Given the description of an element on the screen output the (x, y) to click on. 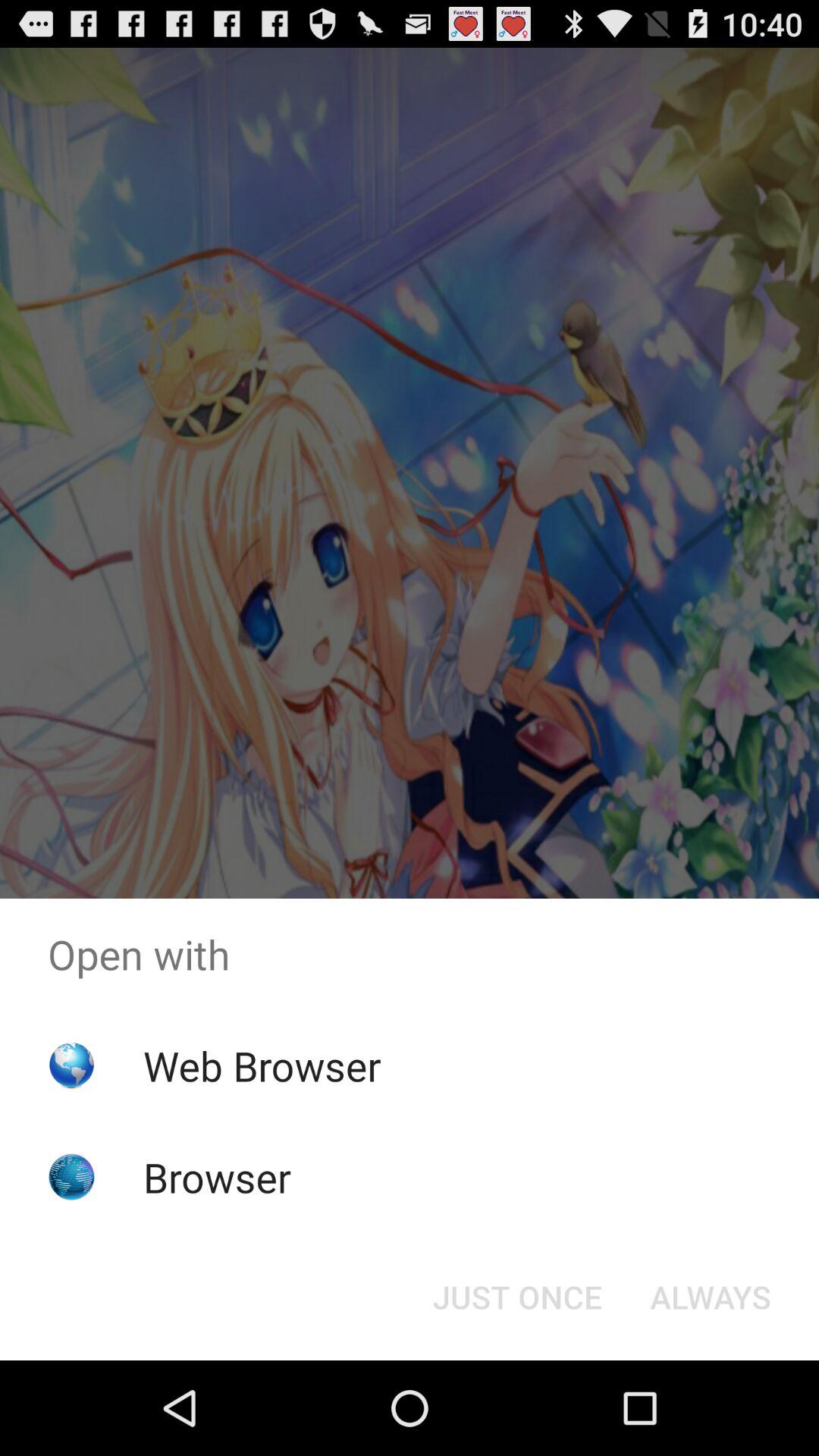
choose icon to the left of the always item (517, 1296)
